Given the description of an element on the screen output the (x, y) to click on. 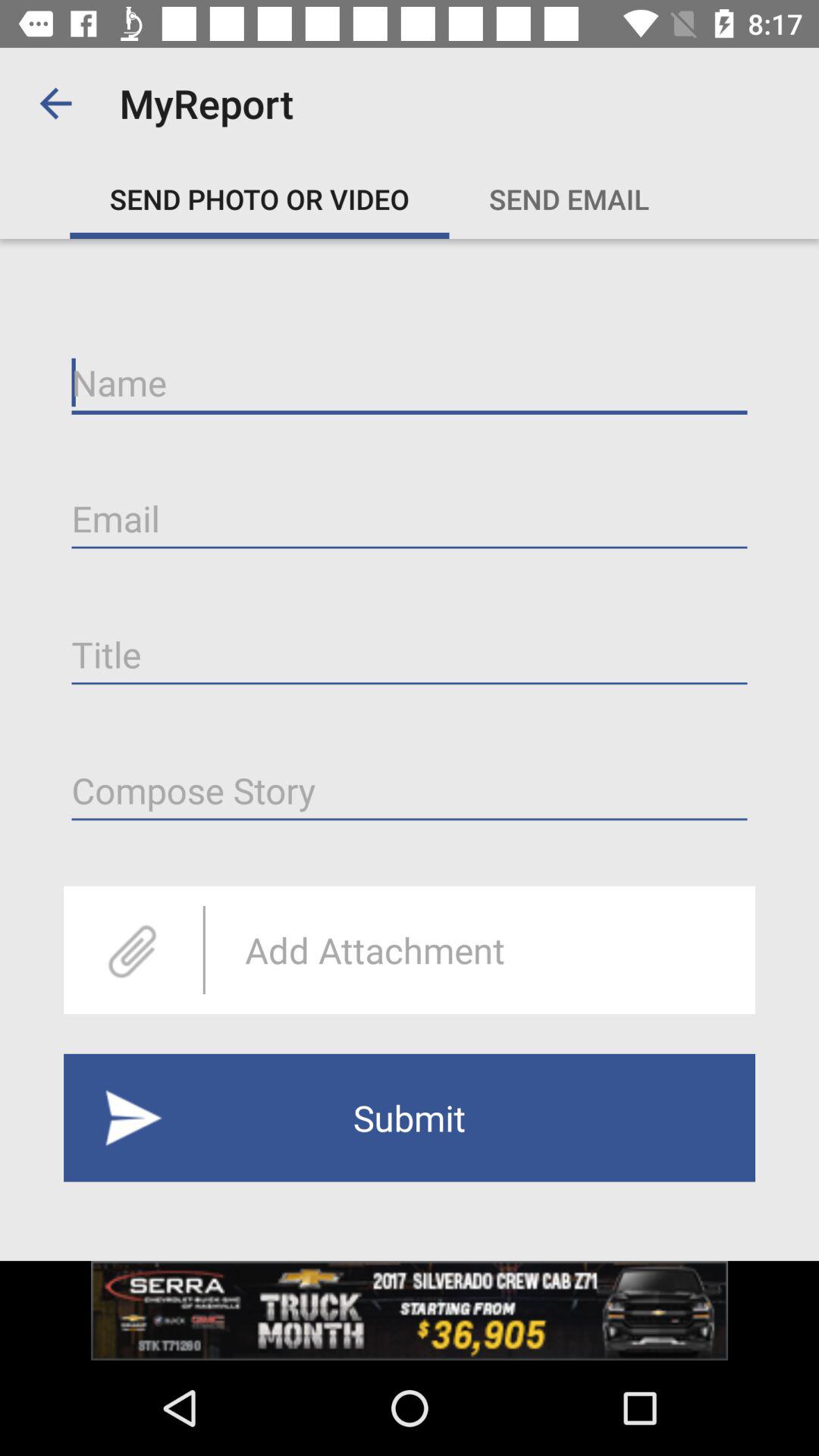
enter email (409, 519)
